Given the description of an element on the screen output the (x, y) to click on. 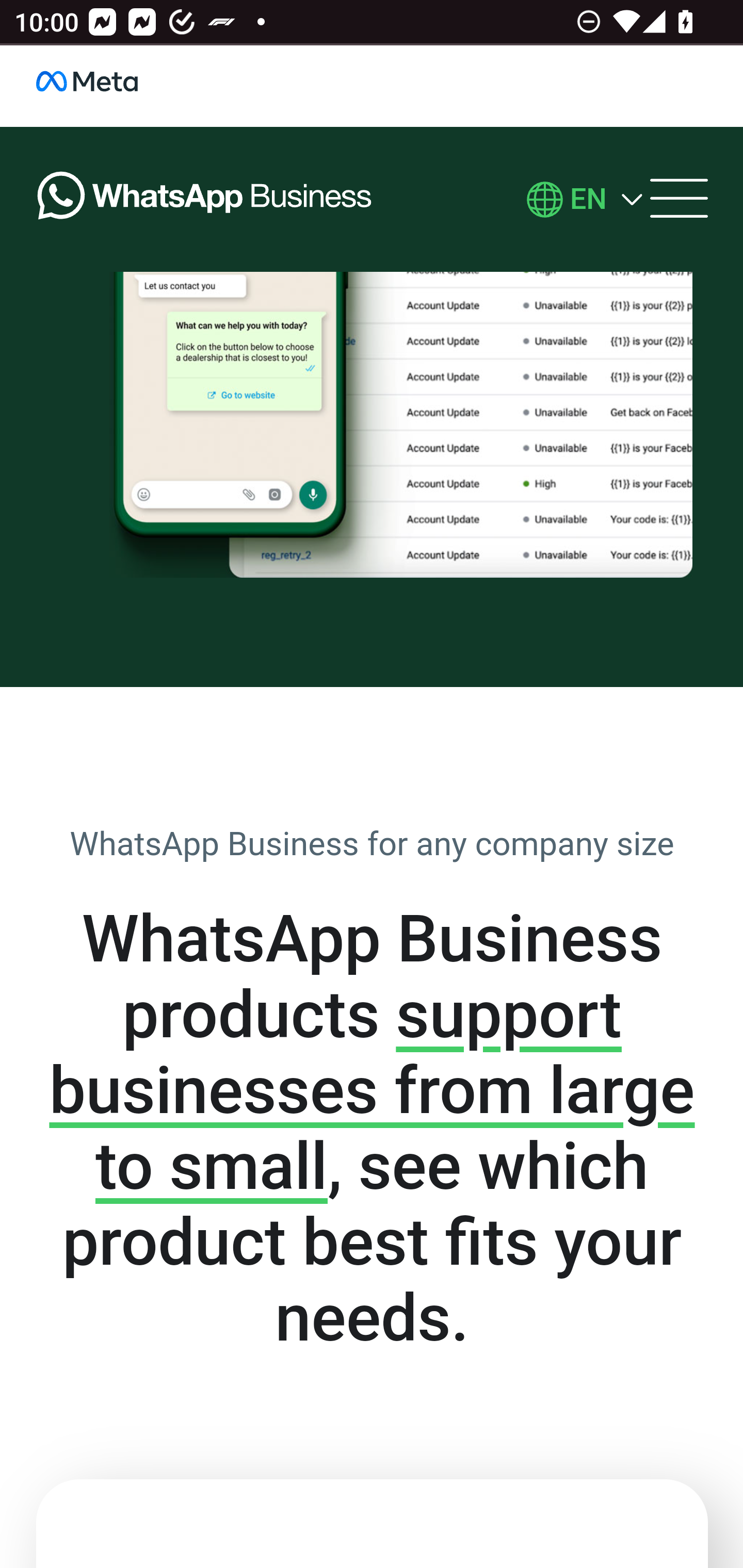
business (108, 85)
WhatsApp for Business logo (204, 200)
EN (588, 200)
